Given the description of an element on the screen output the (x, y) to click on. 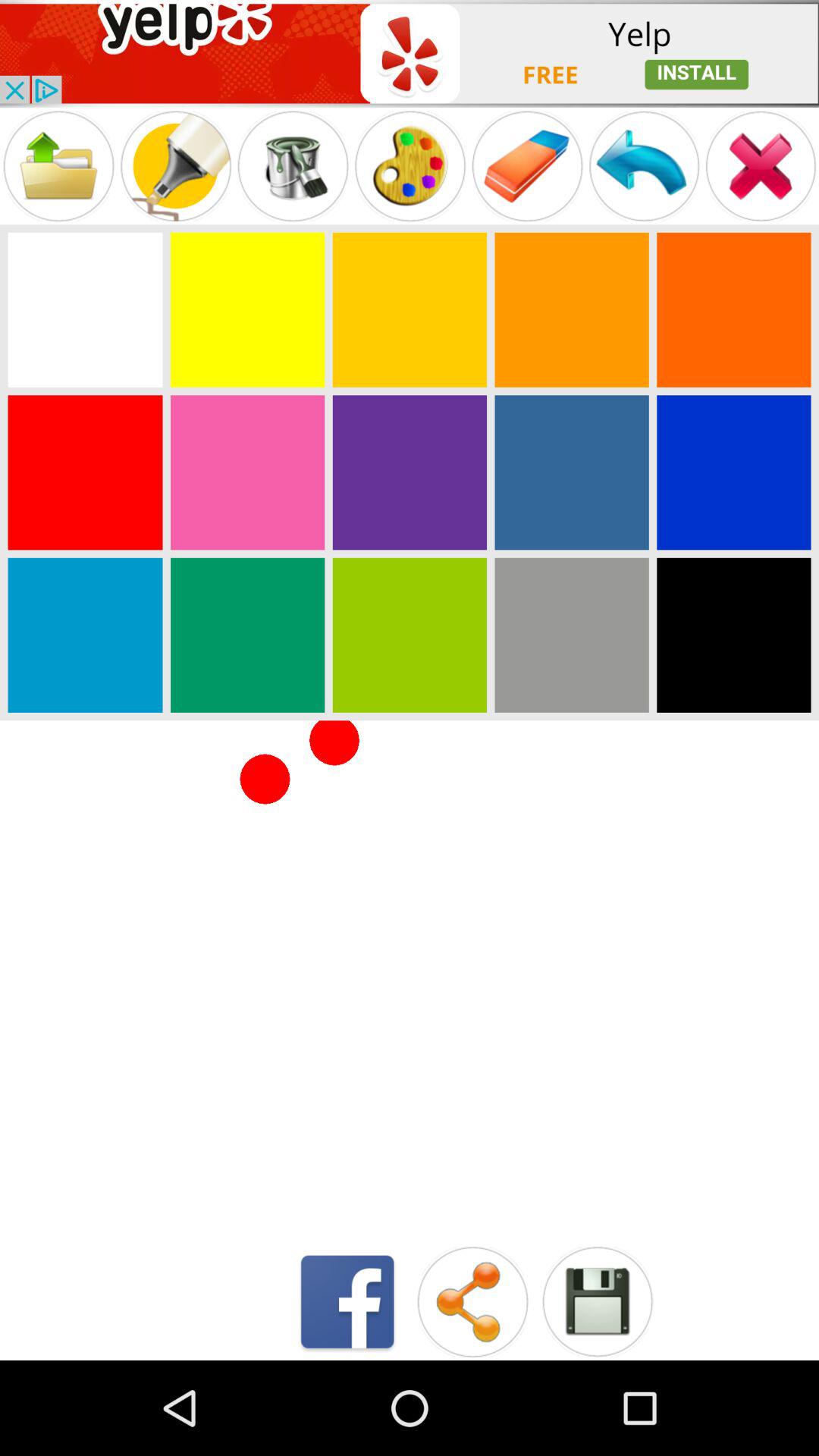
advertisement (409, 53)
